Given the description of an element on the screen output the (x, y) to click on. 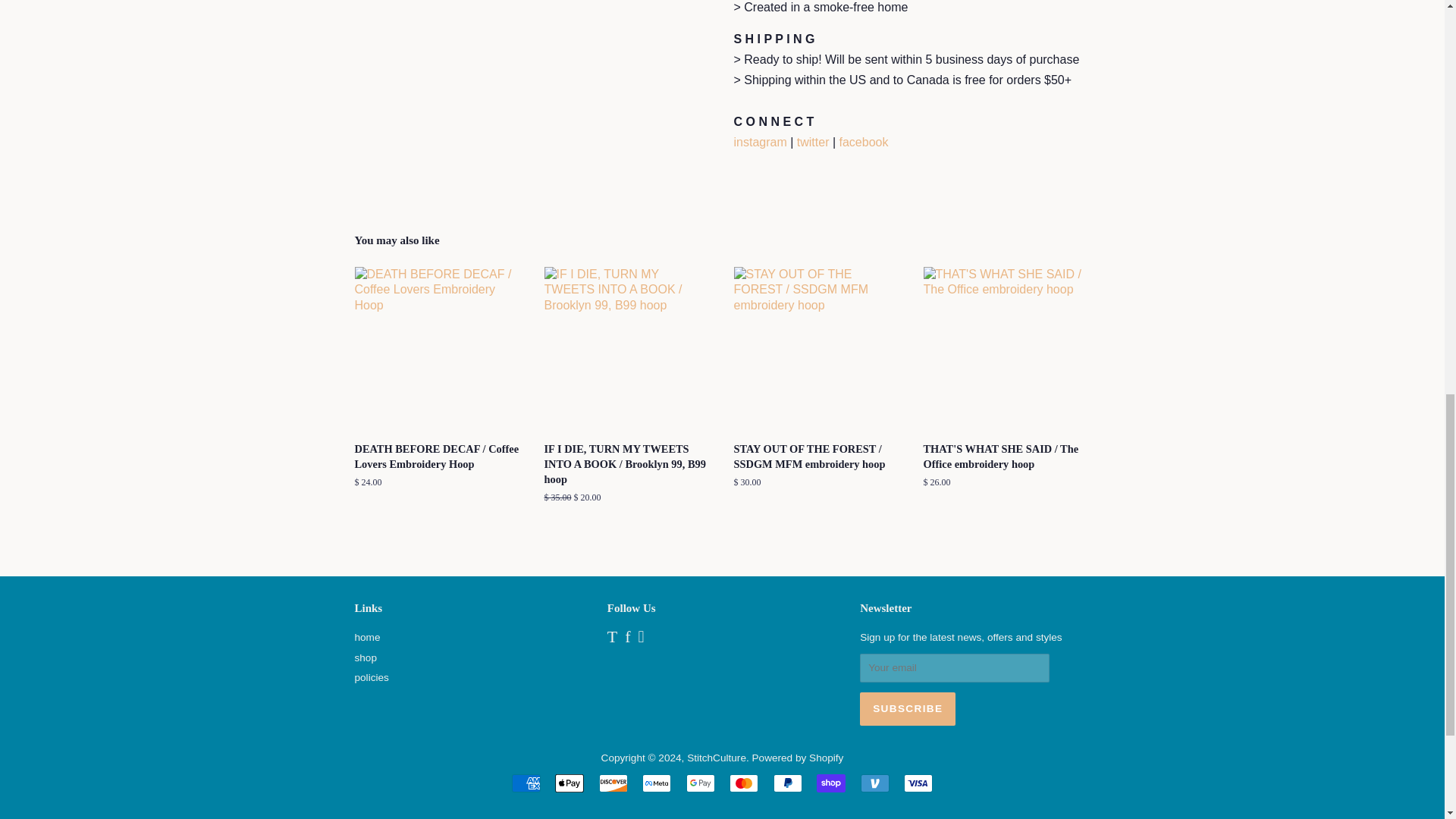
twitter (812, 141)
Shop Pay (830, 782)
Venmo (874, 782)
Subscribe (907, 708)
facebook (864, 141)
Meta Pay (656, 782)
instagram (760, 141)
Google Pay (699, 782)
Discover (612, 782)
PayPal (787, 782)
Visa (918, 782)
American Express (526, 782)
Mastercard (743, 782)
Apple Pay (568, 782)
